Given the description of an element on the screen output the (x, y) to click on. 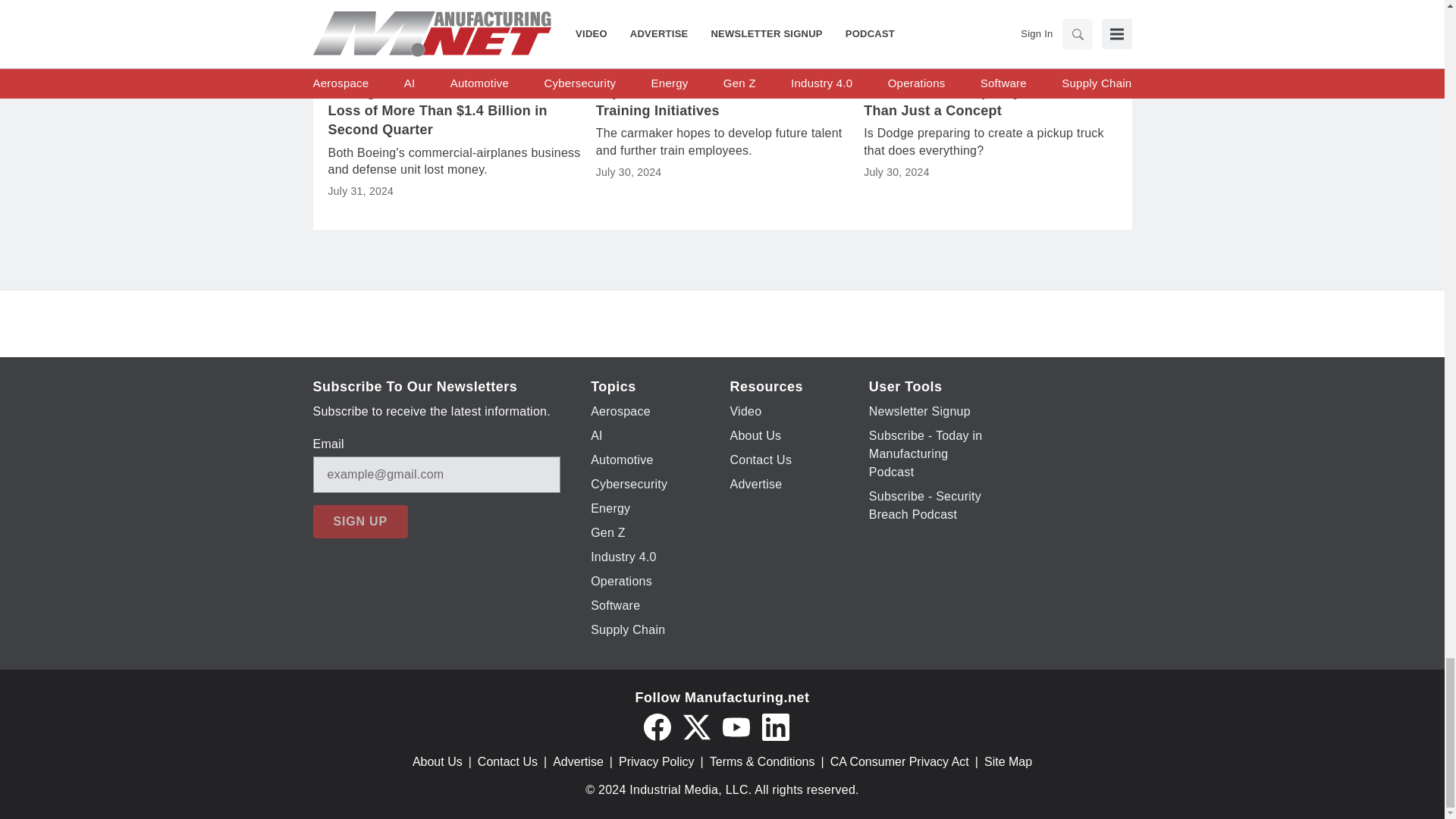
Facebook icon (656, 727)
Twitter X icon (696, 727)
YouTube icon (735, 727)
LinkedIn icon (775, 727)
